Given the description of an element on the screen output the (x, y) to click on. 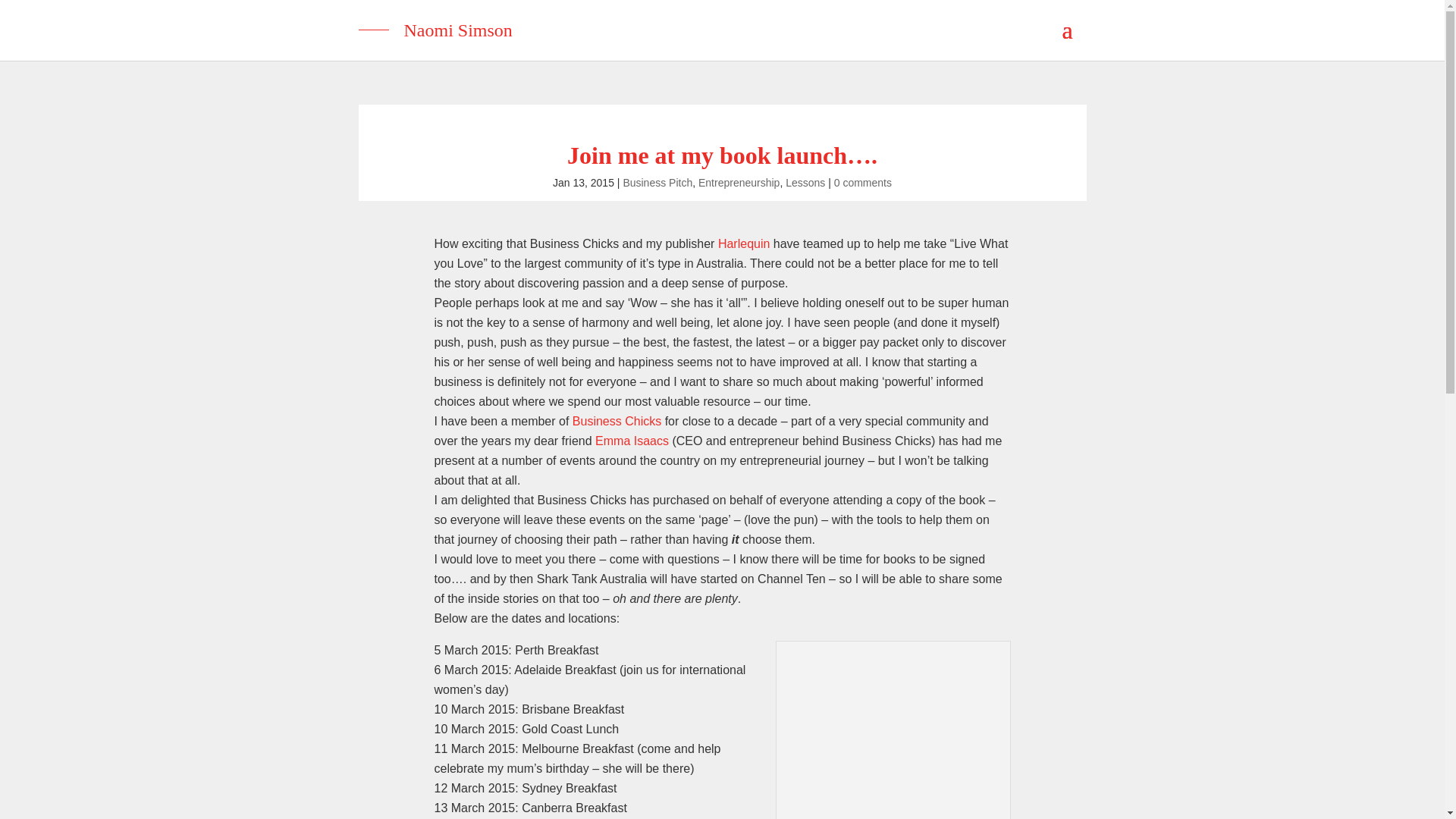
Business Pitch (658, 182)
Lessons (805, 182)
0 comments (862, 182)
Business Chicks (616, 420)
Harlequin (743, 243)
Entrepreneurship (738, 182)
Emma Isaacs (631, 440)
Naomi Simson (722, 24)
